Given the description of an element on the screen output the (x, y) to click on. 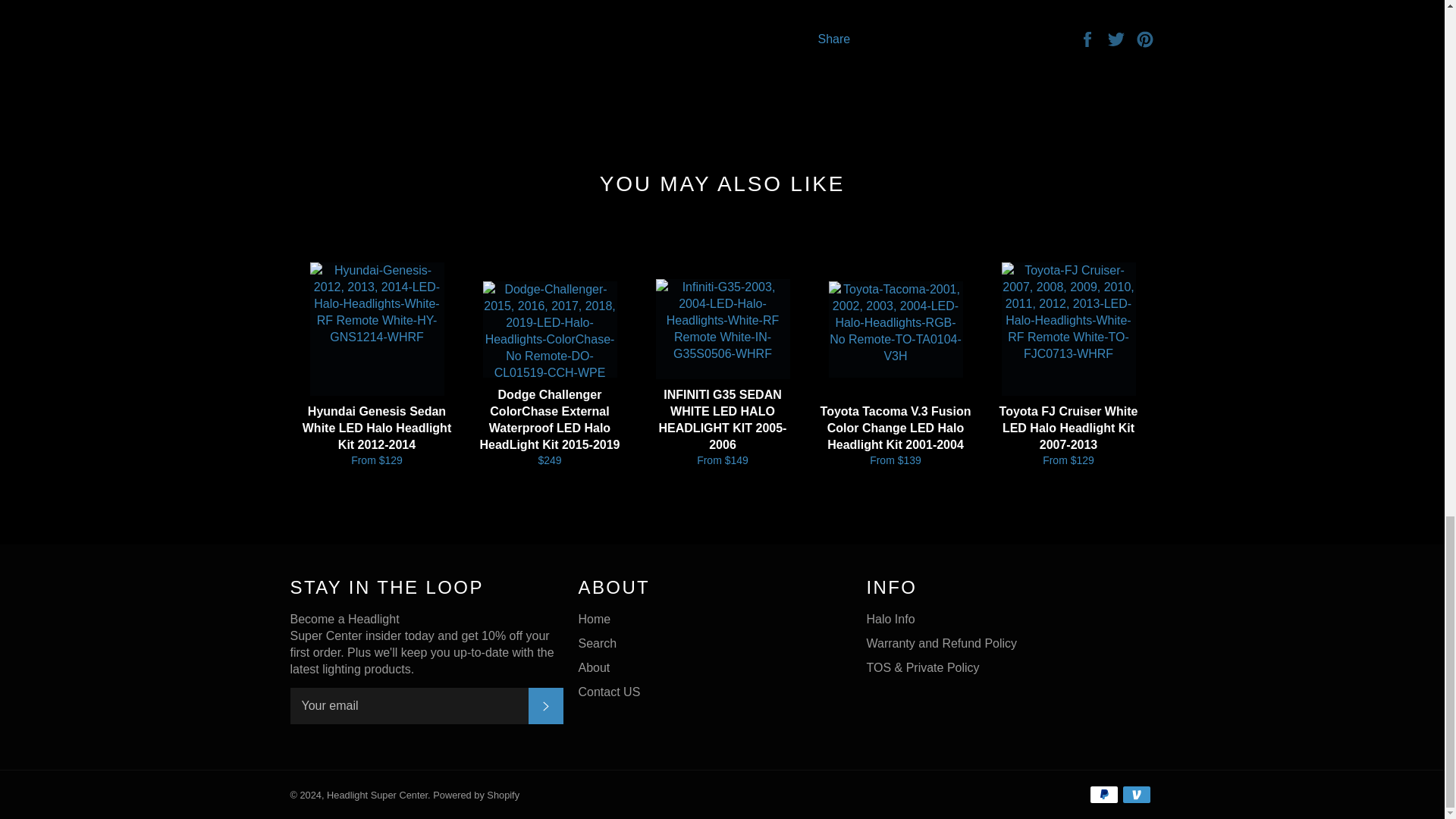
Tweet on Twitter (1117, 38)
Share on Facebook (1088, 38)
Pin on Pinterest (1144, 38)
